Given the description of an element on the screen output the (x, y) to click on. 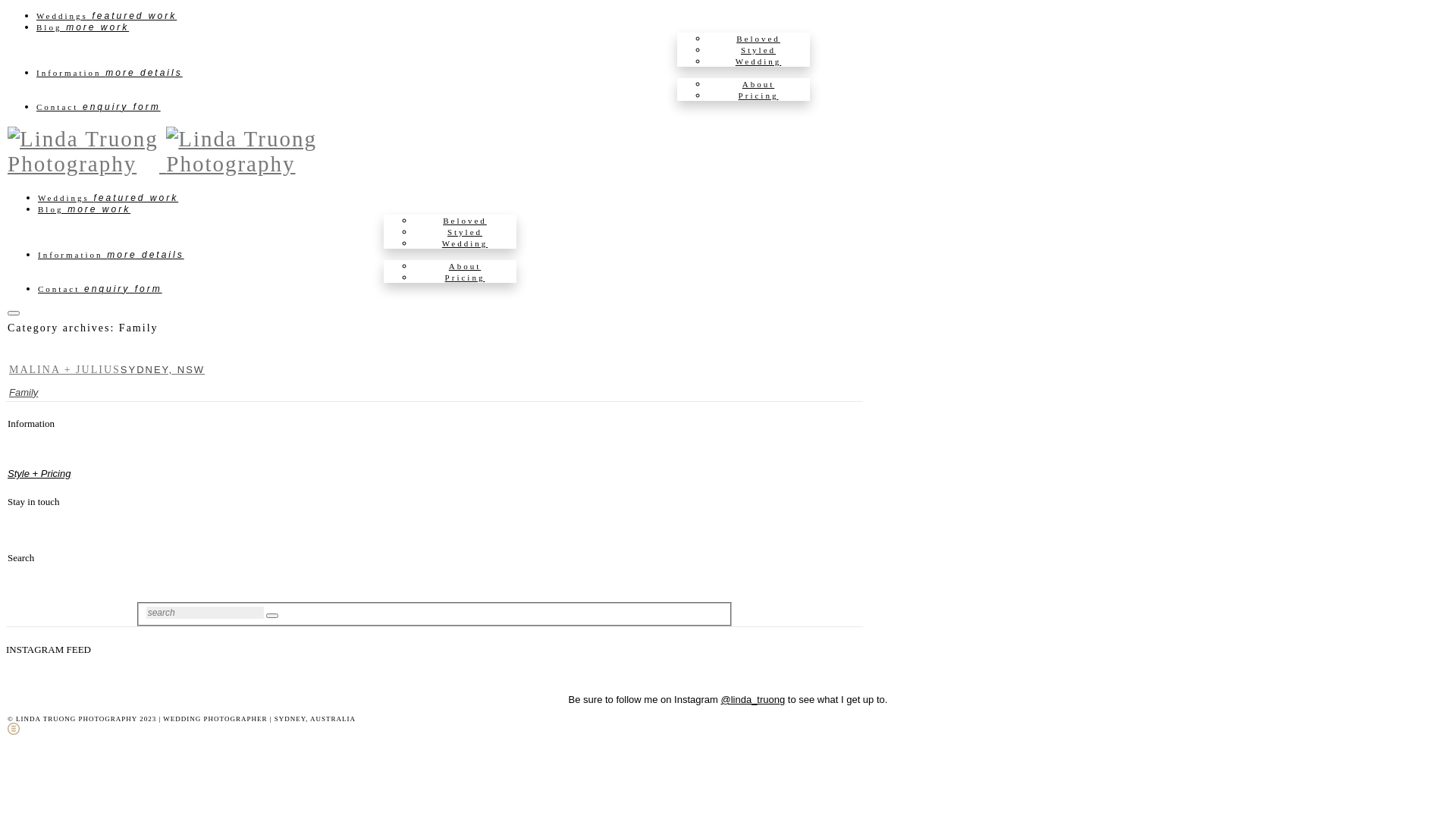
MALINA + JULIUSSYDNEY, NSW Element type: text (106, 369)
About Element type: text (758, 83)
Pricing Element type: text (758, 95)
About Element type: text (464, 265)
Family Element type: text (23, 392)
Information more details Element type: text (110, 254)
Weddings featured work Element type: text (107, 197)
Style + Pricing Element type: text (38, 473)
Contact enquiry form Element type: text (99, 288)
Beloved Element type: text (758, 38)
Weddings featured work Element type: text (106, 15)
Pricing Element type: text (465, 277)
Beloved Element type: text (464, 220)
Blog more work Element type: text (82, 26)
Wedding Element type: text (464, 242)
Information more details Element type: text (109, 72)
Styled Element type: text (757, 49)
@linda_truong Element type: text (752, 699)
Blog more work Element type: text (83, 208)
Contact enquiry form Element type: text (98, 106)
Styled Element type: text (464, 231)
Wedding Element type: text (758, 60)
